Given the description of an element on the screen output the (x, y) to click on. 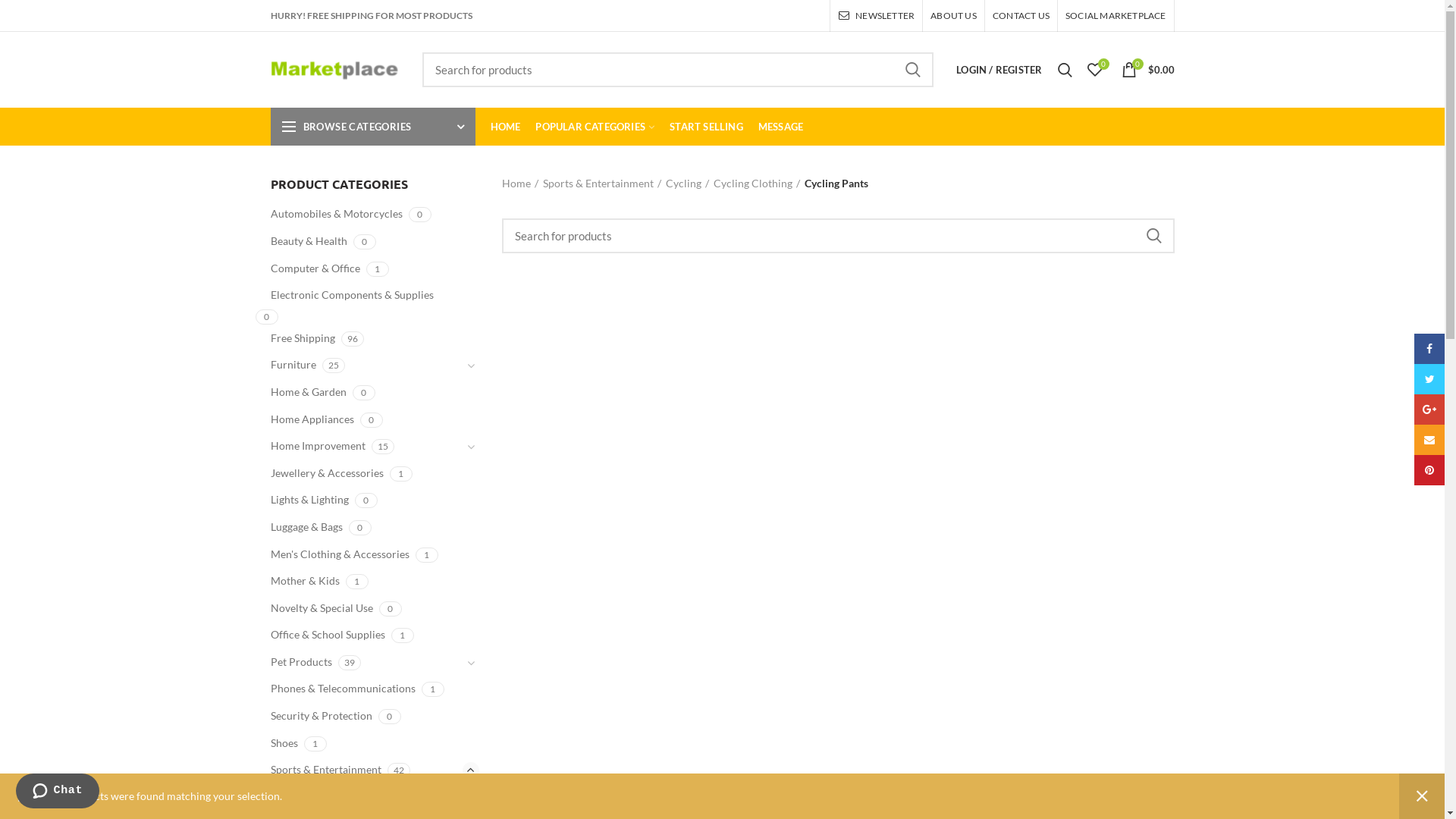
Jewellery & Accessories Element type: text (335, 472)
Phones & Telecommunications Element type: text (351, 688)
Furniture Element type: text (301, 364)
Cycling Clothing Element type: text (756, 183)
NEWSLETTER Element type: text (876, 15)
LOGIN / REGISTER Element type: text (998, 69)
MESSAGE Element type: text (780, 126)
Opens a widget where you can chat to one of our agents Element type: hover (57, 792)
Home Improvement Element type: text (326, 445)
Log in Element type: text (917, 297)
Log in Element type: text (917, 249)
ABOUT US Element type: text (953, 15)
Home & Garden Element type: text (316, 391)
Beauty & Health Element type: text (317, 240)
Security & Protection Element type: text (329, 715)
POPULAR CATEGORIES Element type: text (594, 126)
0 Element type: text (1094, 69)
HOME Element type: text (504, 126)
Sports & Entertainment Element type: text (334, 769)
Novelty & Special Use Element type: text (330, 607)
Sports & Entertainment Element type: text (601, 183)
Home Element type: text (520, 183)
Pet Products Element type: text (309, 661)
START SELLING Element type: text (706, 126)
Shoes Element type: text (292, 742)
Men's Clothing & Accessories Element type: text (348, 553)
Cycling Element type: text (687, 183)
Home Appliances Element type: text (320, 419)
Office & School Supplies Element type: text (336, 634)
Lights & Lighting Element type: text (318, 499)
Cycling Element type: text (309, 796)
Mother & Kids Element type: text (313, 580)
SEARCH Element type: text (1153, 235)
Luggage & Bags Element type: text (314, 526)
Computer & Office Element type: text (323, 268)
SOCIAL MARKETPLACE Element type: text (1115, 15)
Electronic Components & Supplies Element type: text (360, 294)
Free Shipping Element type: text (311, 337)
SEARCH Element type: text (912, 69)
CONTACT US Element type: text (1021, 15)
Automobiles & Motorcycles Element type: text (344, 213)
0
$0.00 Element type: text (1147, 69)
